Given the description of an element on the screen output the (x, y) to click on. 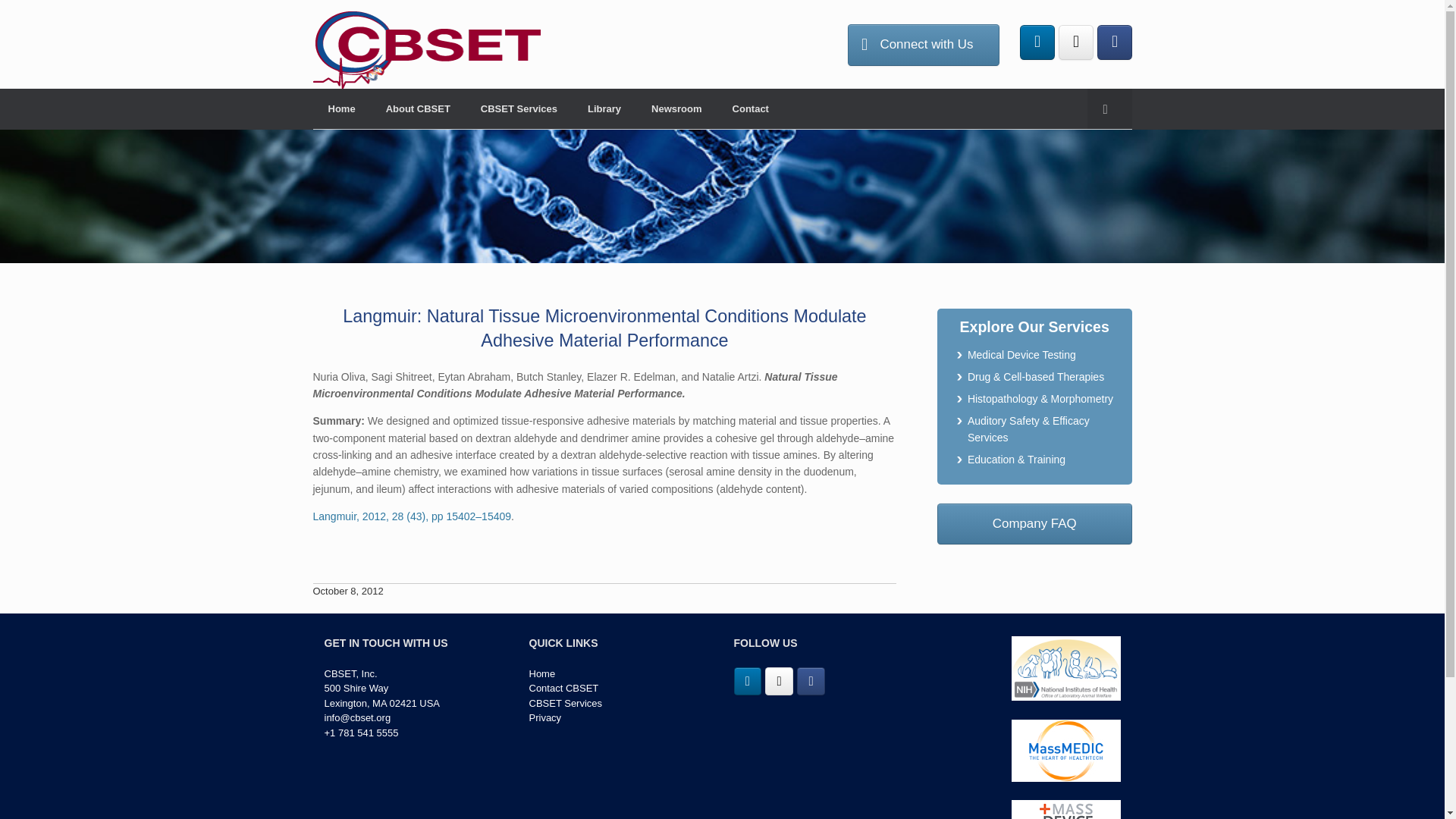
Connect with Us (923, 44)
Contact (750, 108)
Contact CBSET (563, 687)
CBSET on Facebook (810, 681)
Home (341, 108)
About CBSET (418, 108)
Company FAQ (1034, 523)
CBSET (426, 49)
Medical Device Testing (1021, 354)
Home (542, 673)
CBSET Services (518, 108)
CBSET on Linkedin (1037, 42)
CBSET on Linkedin (747, 681)
CBSET Services (565, 703)
